Given the description of an element on the screen output the (x, y) to click on. 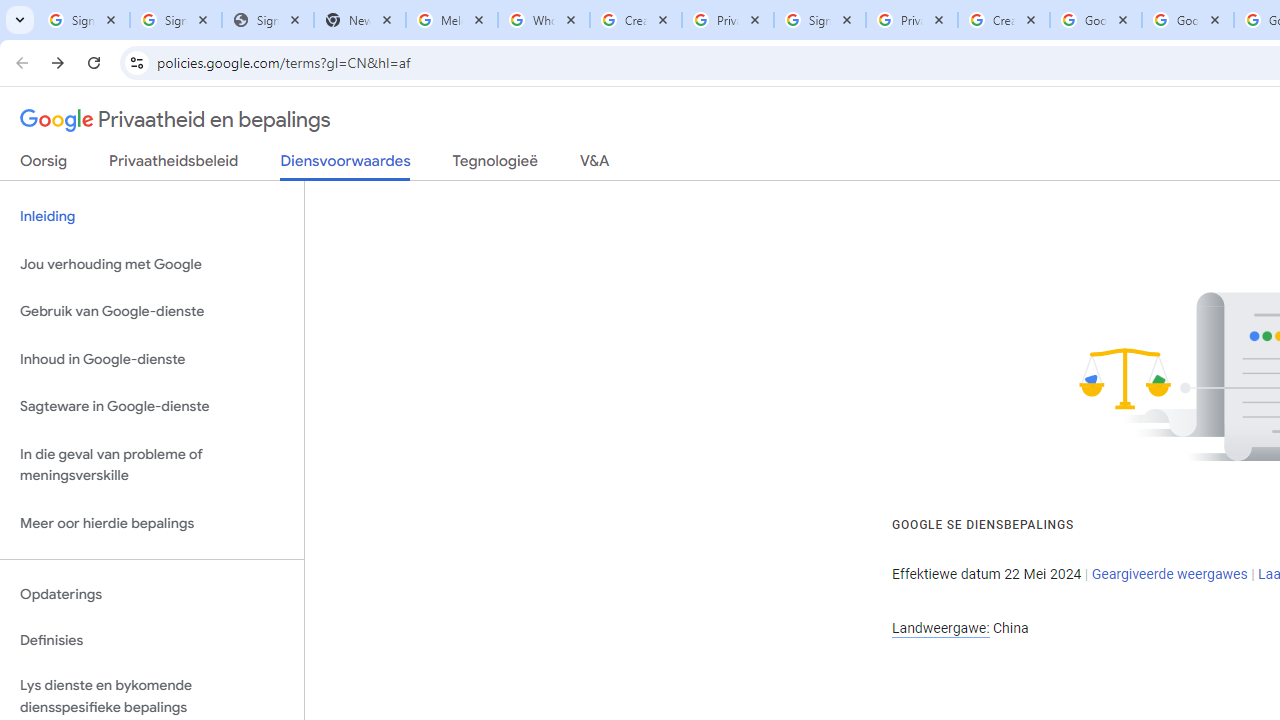
Sagteware in Google-dienste (152, 407)
Definisies (152, 640)
Create your Google Account (636, 20)
New Tab (359, 20)
Opdaterings (152, 594)
V&A (594, 165)
Privaatheidsbeleid (173, 165)
Diensvoorwaardes (345, 166)
Sign in - Google Accounts (820, 20)
